Given the description of an element on the screen output the (x, y) to click on. 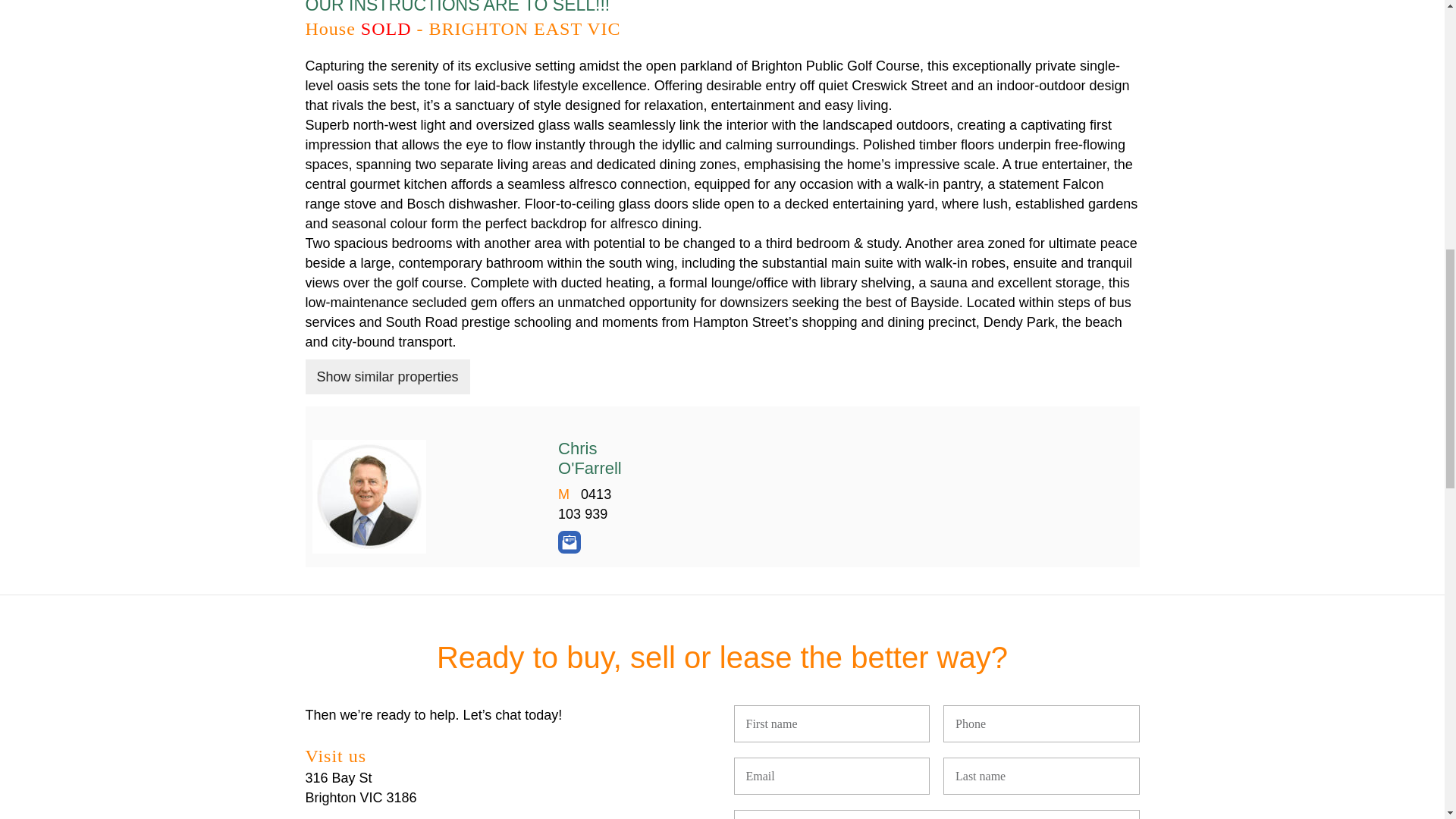
Contact Chris O'Farrell by Email (568, 541)
